Given the description of an element on the screen output the (x, y) to click on. 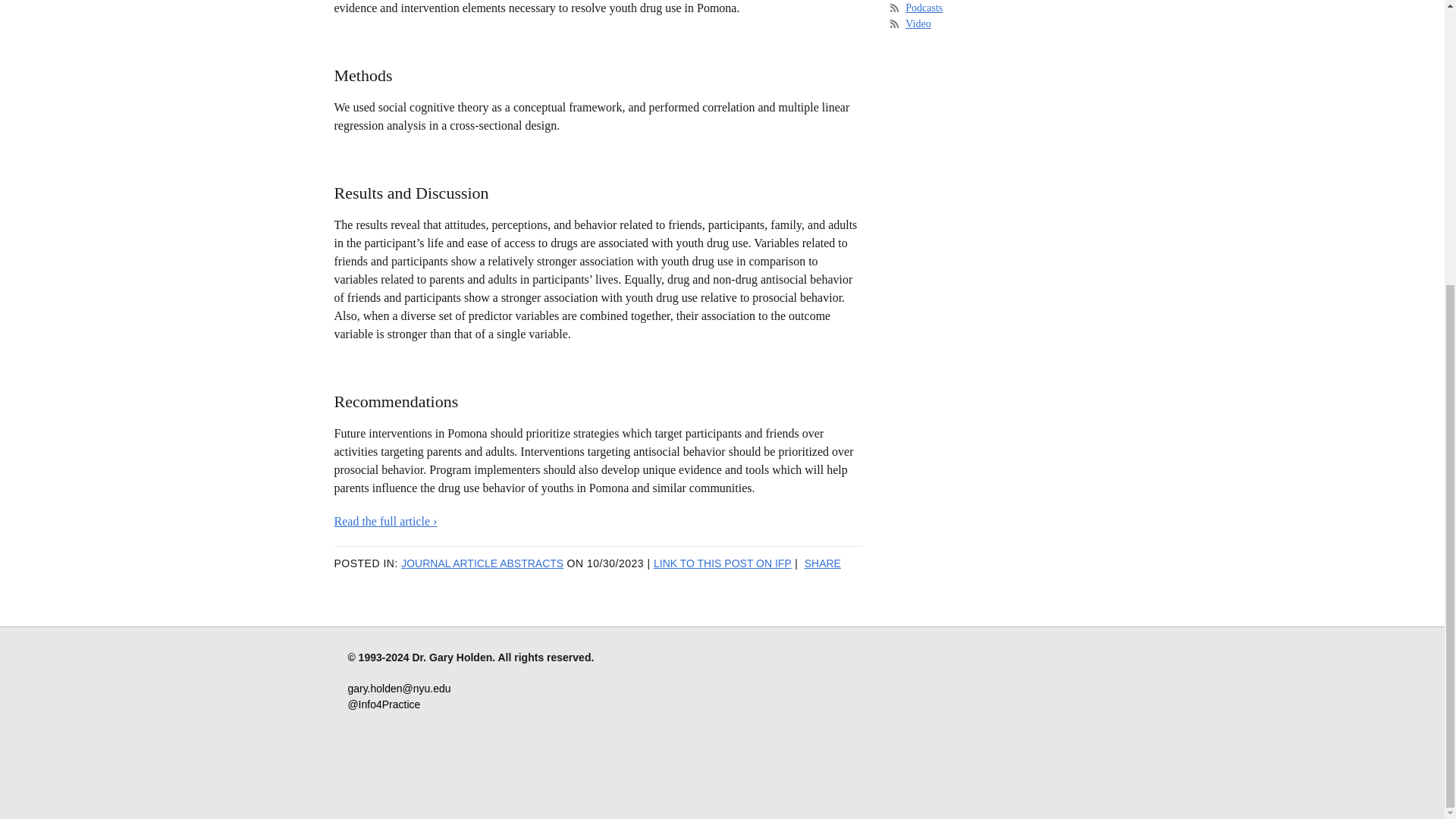
JOURNAL ARTICLE ABSTRACTS (482, 563)
LINK TO THIS POST ON IFP (722, 563)
Video (917, 23)
SHARE (823, 563)
Podcasts (923, 7)
